Given the description of an element on the screen output the (x, y) to click on. 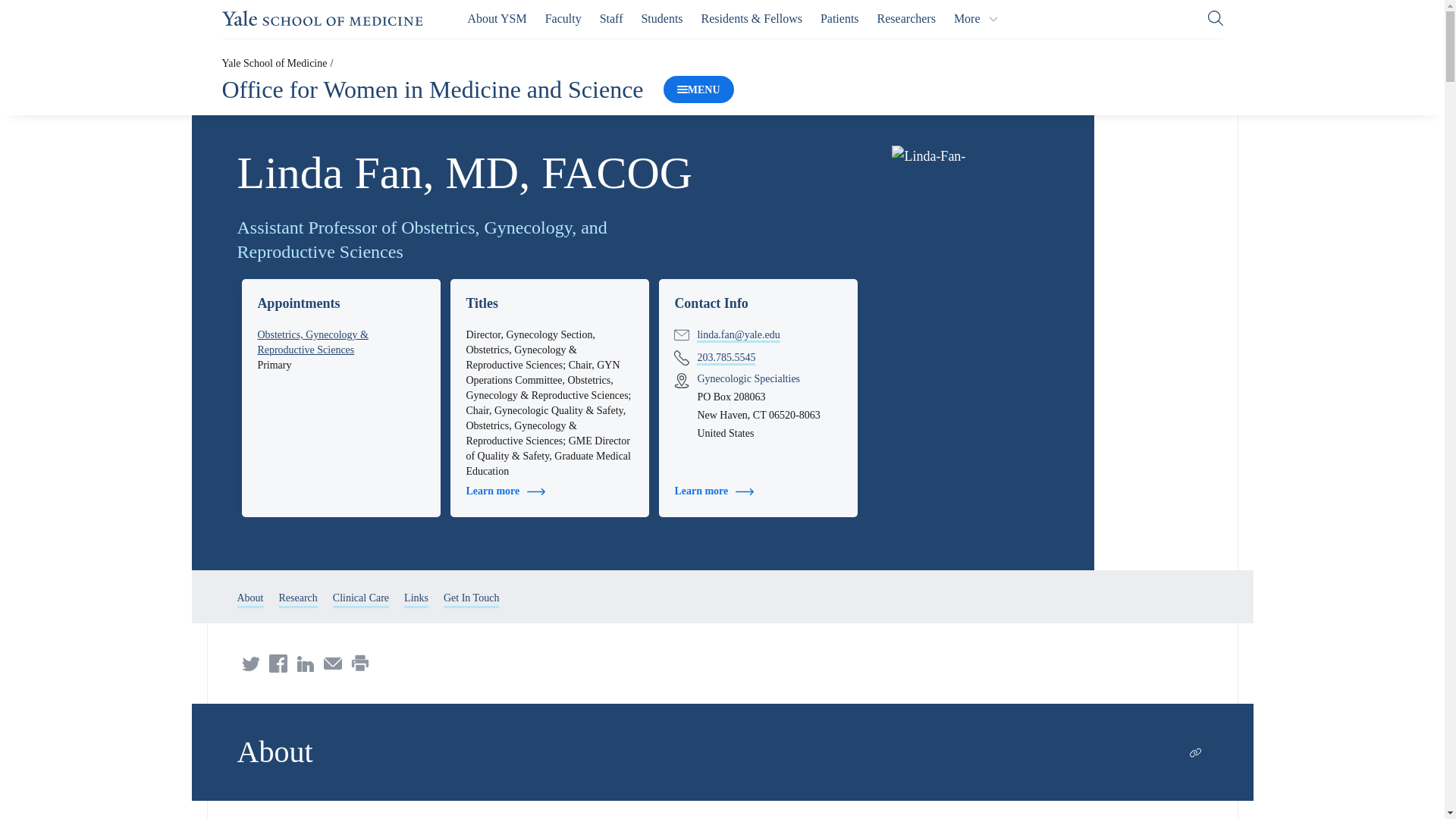
Patients (840, 18)
About YSM (497, 18)
Faculty (562, 18)
Yale School of Medicine (321, 18)
MENU (698, 89)
More (975, 18)
Yale School of Medicine (273, 62)
Students (661, 18)
Yale School of Medicine (321, 17)
Office for Women in Medicine and Science (432, 89)
Researchers (906, 18)
Staff (611, 18)
